Given the description of an element on the screen output the (x, y) to click on. 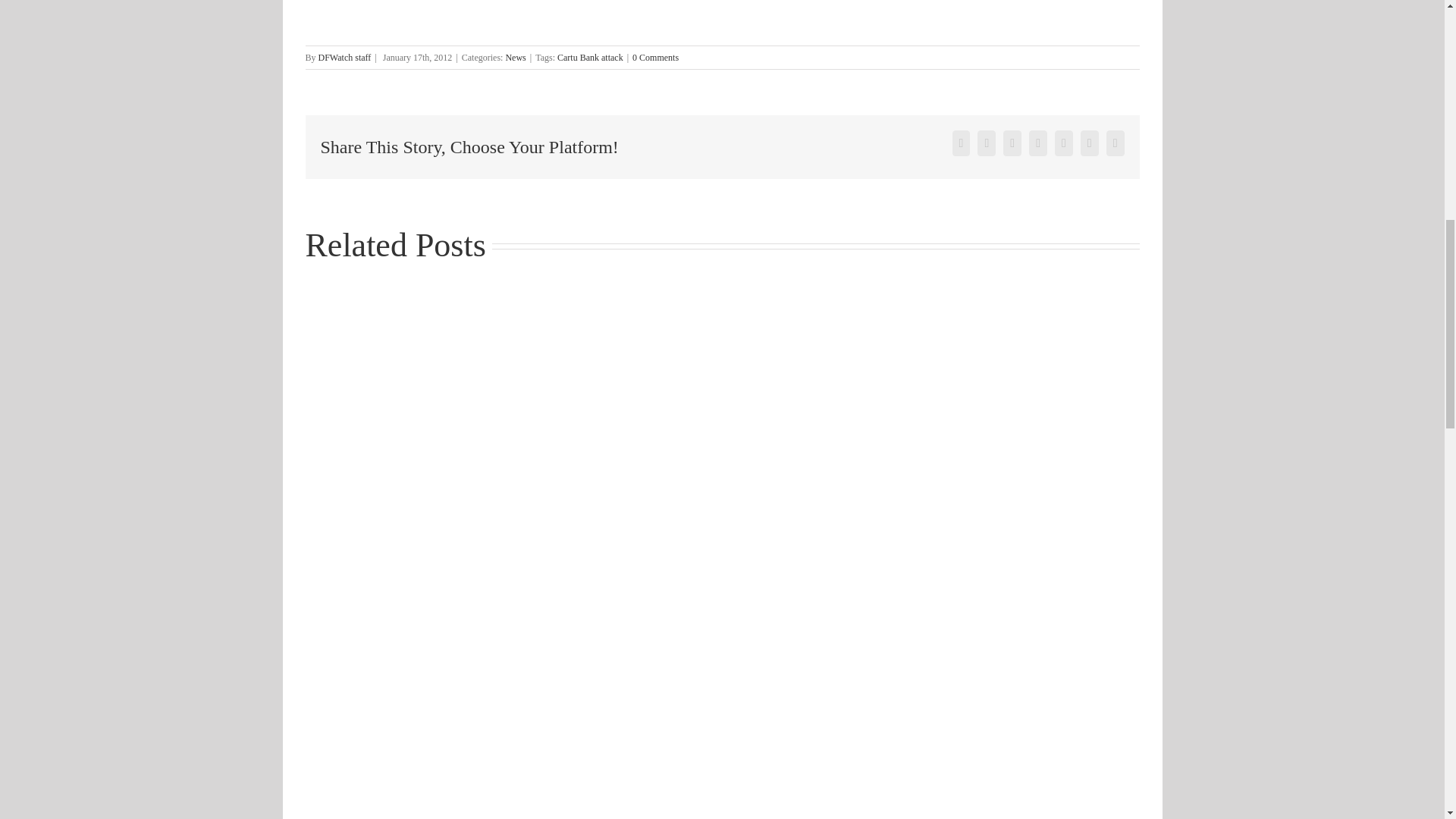
Vk (1115, 143)
Posts by DFWatch staff (344, 56)
Pinterest (1089, 143)
Facebook (961, 143)
Twitter (985, 143)
Reddit (1037, 143)
Linkedin (1012, 143)
